Given the description of an element on the screen output the (x, y) to click on. 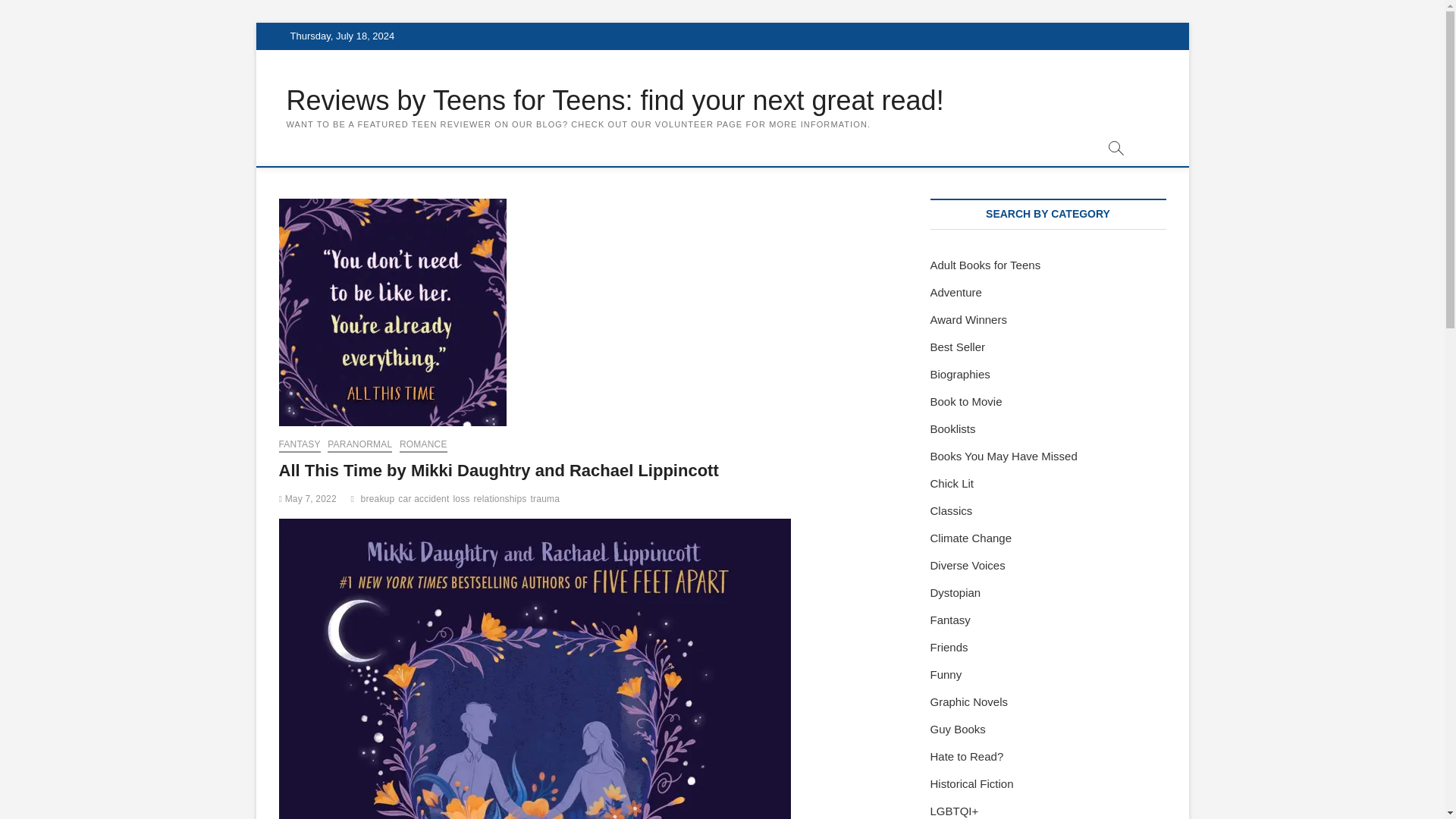
Award Winners (968, 318)
Biographies (960, 373)
Diverse Voices (967, 564)
Hate to Read? (966, 756)
May 7, 2022 (307, 498)
Dystopian (954, 592)
relationships (502, 500)
Funny (945, 674)
Fantasy (949, 619)
Adult Books for Teens (985, 264)
FANTASY (299, 445)
breakup (379, 500)
Chick Lit (952, 482)
ROMANCE (422, 445)
PARANORMAL (359, 445)
